Given the description of an element on the screen output the (x, y) to click on. 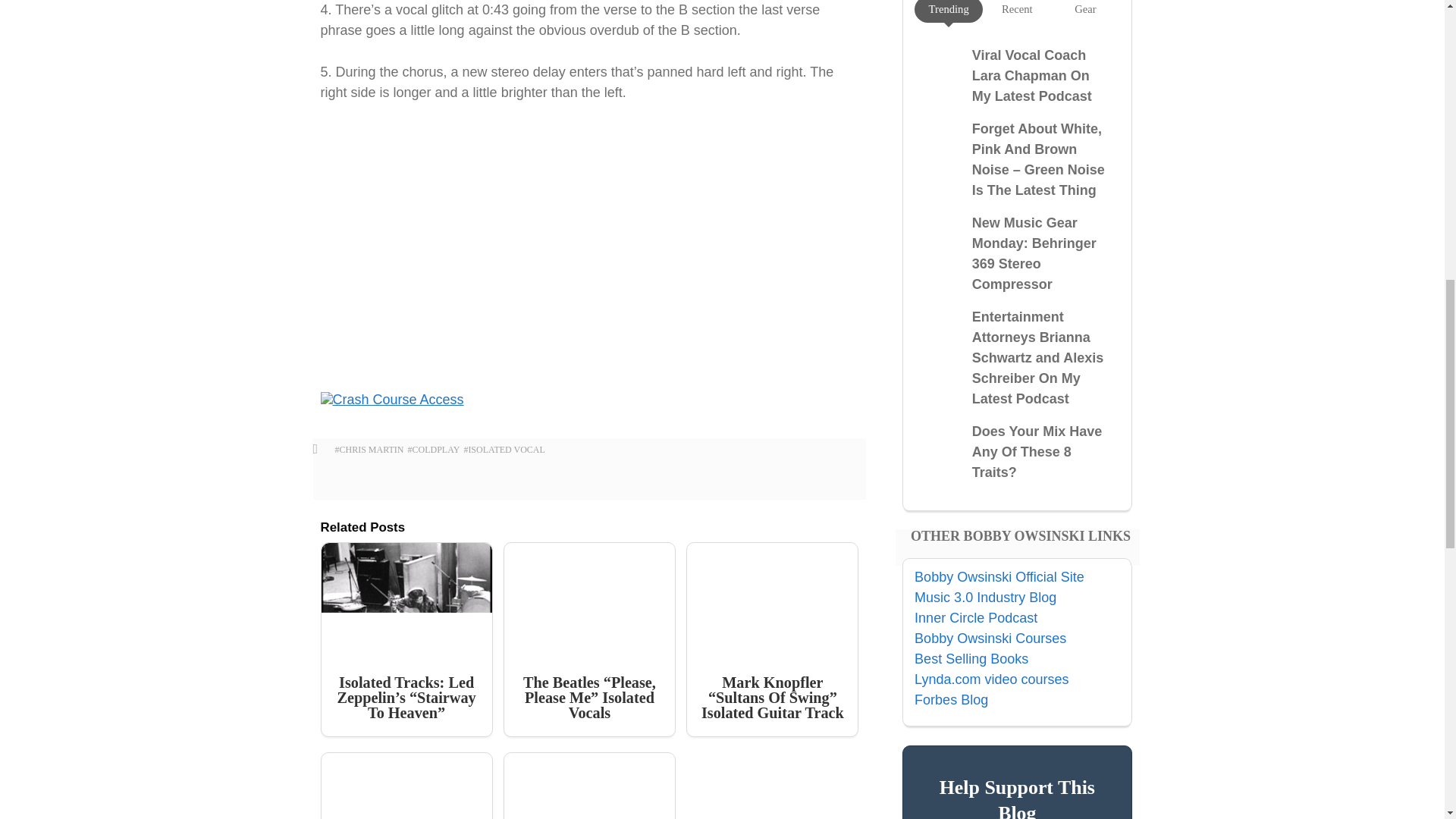
Trending (948, 9)
Viral Vocal Coach Lara Chapman On My Latest Podcast (1032, 75)
New Music Gear Monday: Behringer 369 Stereo Compressor (1034, 253)
Recent (1016, 9)
Gear (1085, 9)
